Given the description of an element on the screen output the (x, y) to click on. 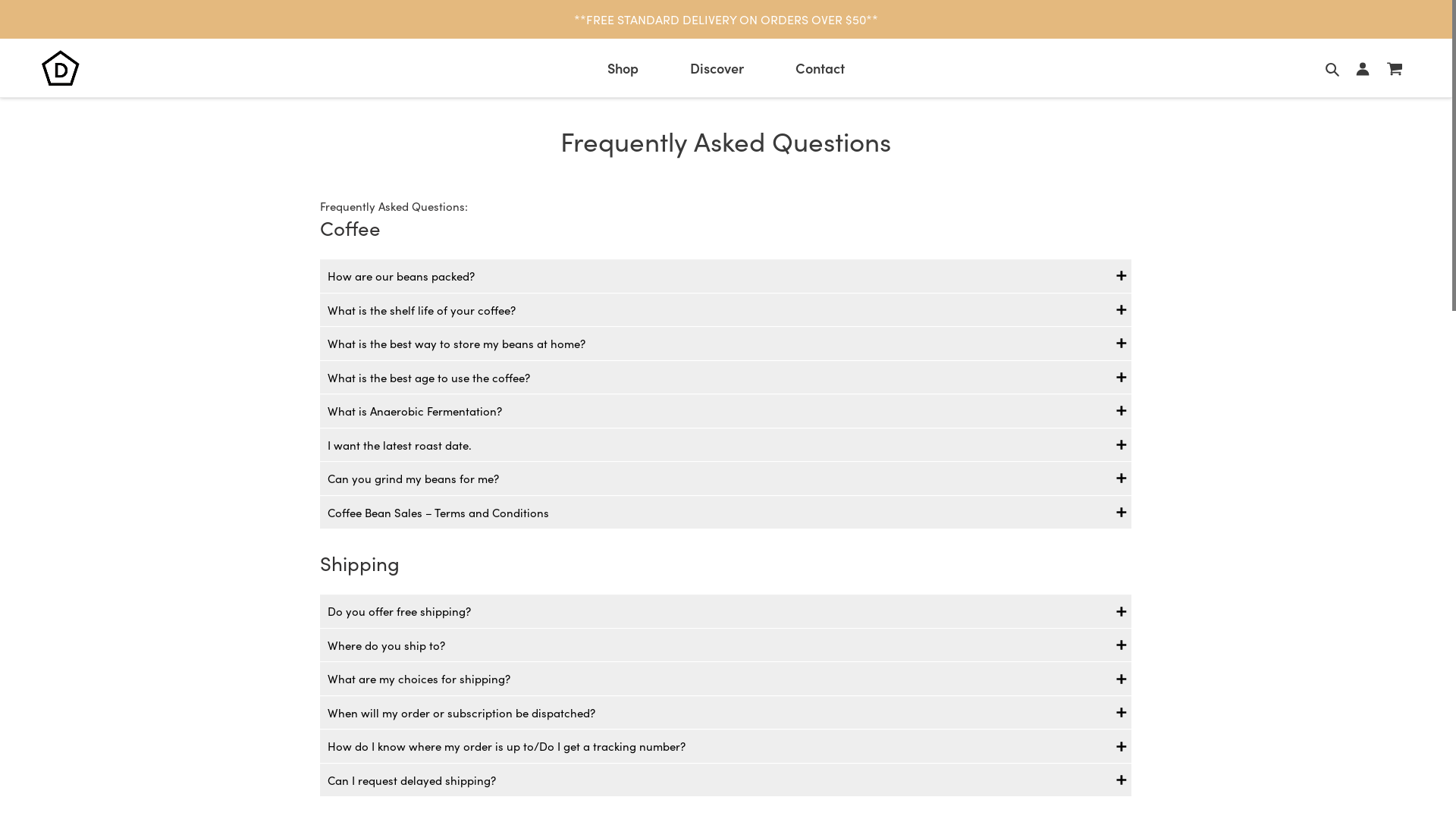
**FREE STANDARD DELIVERY ON ORDERS OVER $50** Element type: text (725, 18)
Contact Element type: text (819, 67)
Log in Element type: text (1362, 67)
Search Element type: text (1333, 68)
Cart Element type: text (1394, 67)
Discover Element type: text (716, 67)
Shop Element type: text (622, 67)
